Given the description of an element on the screen output the (x, y) to click on. 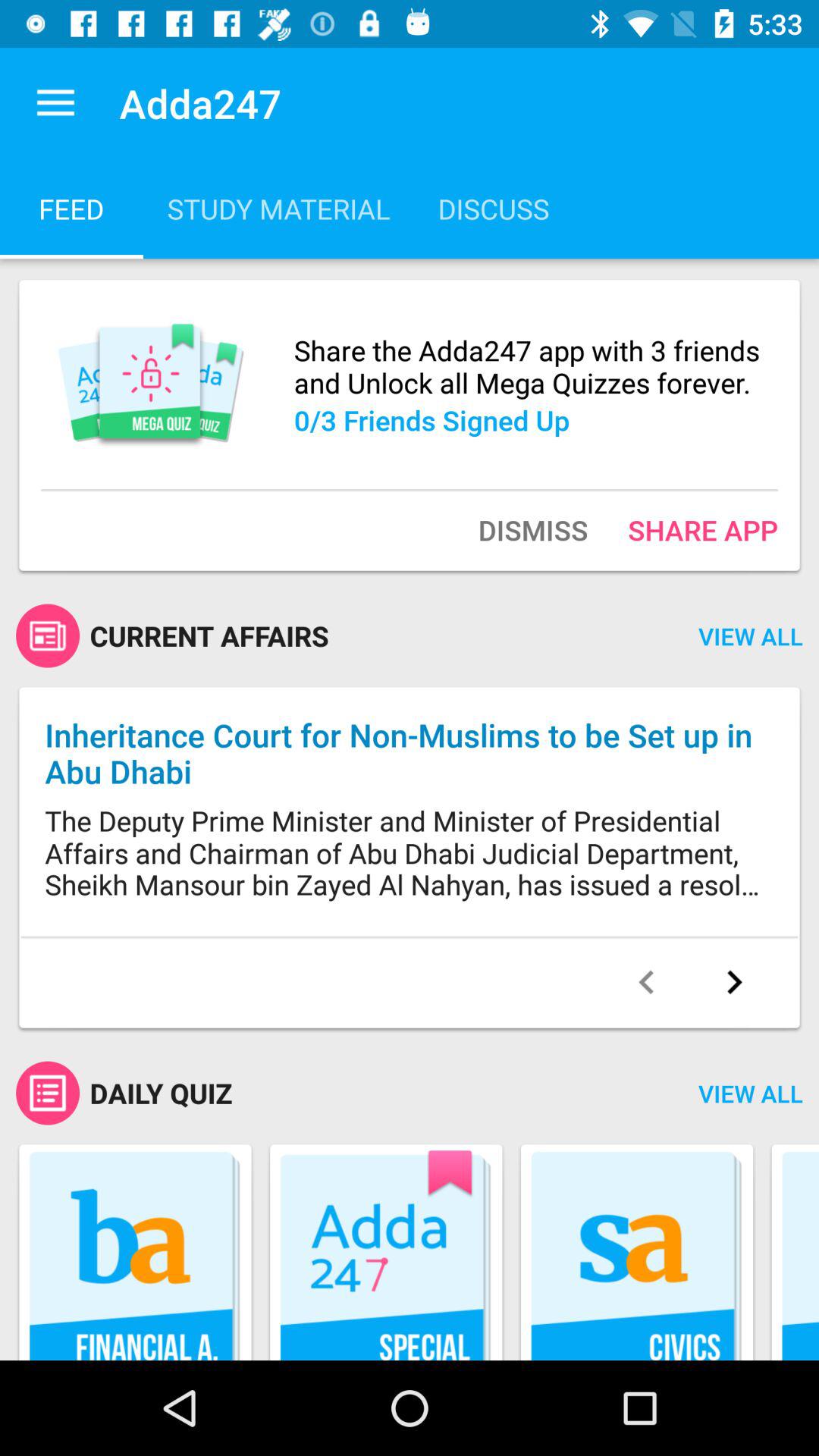
go to the next article (734, 982)
